Given the description of an element on the screen output the (x, y) to click on. 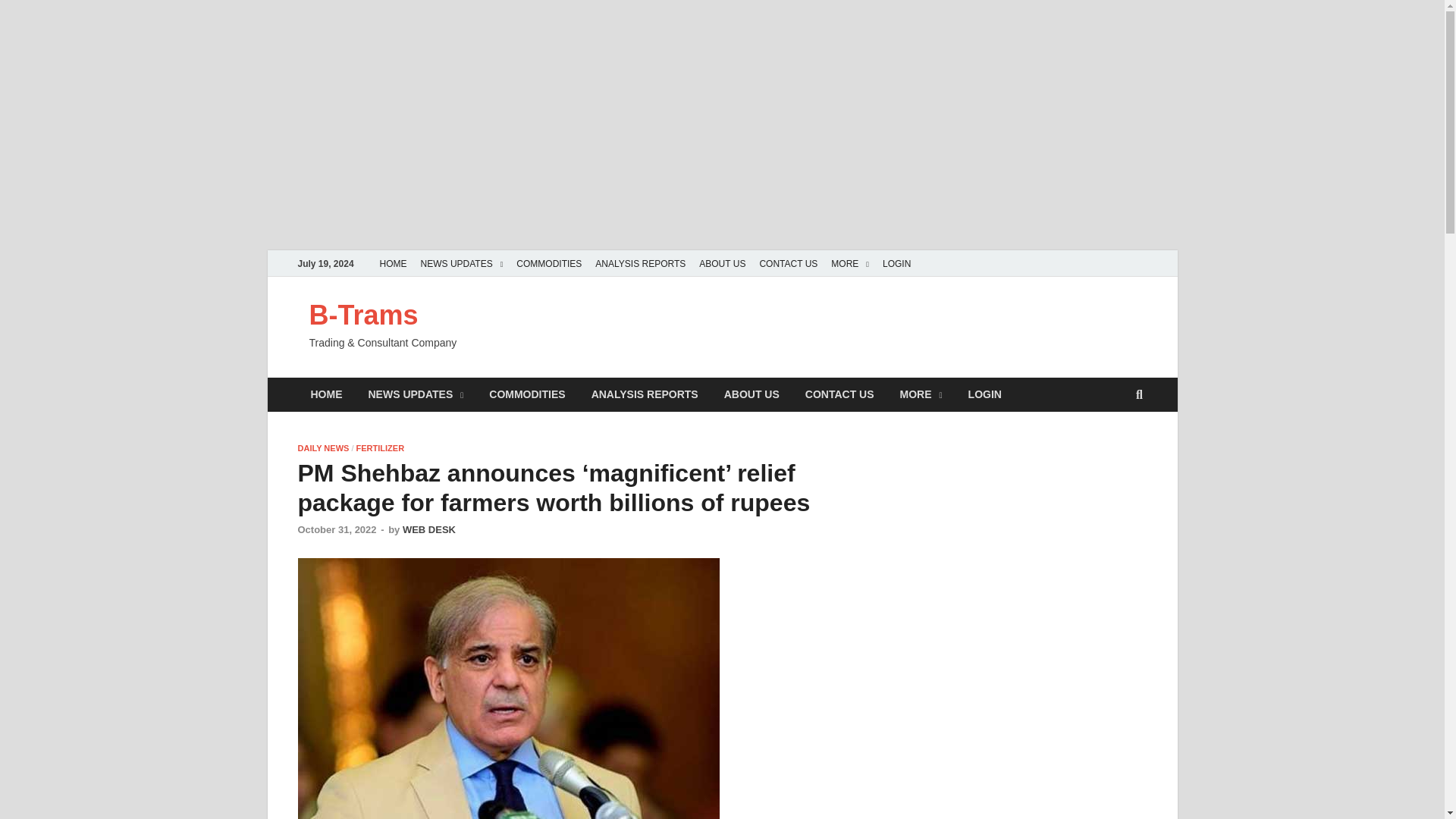
NEWS UPDATES (462, 263)
MORE (850, 263)
CONTACT US (788, 263)
COMMODITIES (527, 394)
LOGIN (896, 263)
ANALYSIS REPORTS (644, 394)
NEWS UPDATES (415, 394)
HOME (392, 263)
COMMODITIES (548, 263)
ABOUT US (722, 263)
B-Trams (363, 314)
ANALYSIS REPORTS (640, 263)
HOME (326, 394)
